Given the description of an element on the screen output the (x, y) to click on. 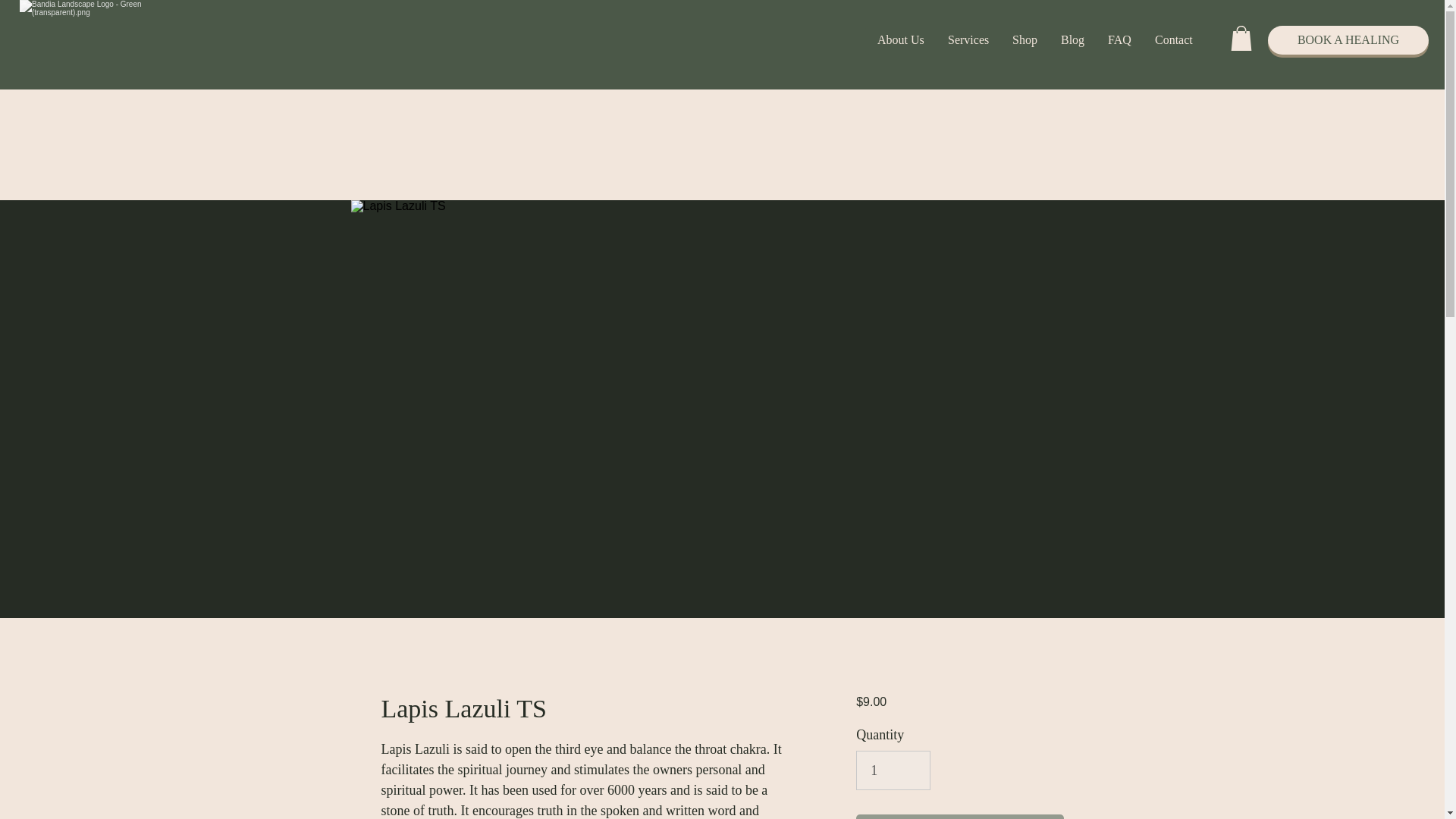
Add to Cart (959, 816)
1 (893, 770)
FAQ (1119, 40)
Shop (1024, 40)
About Us (901, 40)
Contact (1173, 40)
Blog (1072, 40)
BOOK A HEALING (1348, 39)
